Given the description of an element on the screen output the (x, y) to click on. 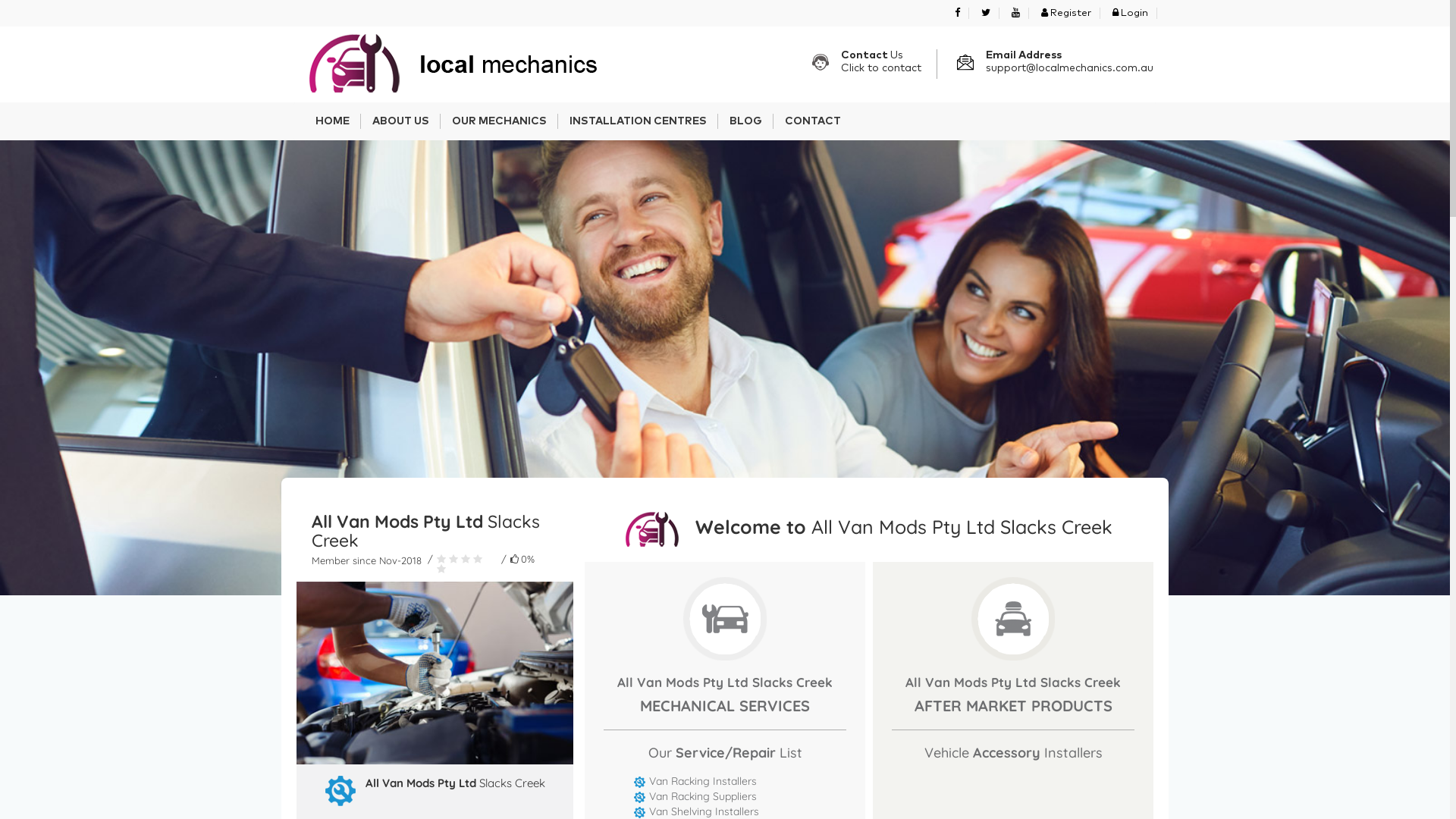
CONTACT Element type: text (812, 121)
INSTALLATION CENTRES Element type: text (638, 121)
BLOG Element type: text (745, 121)
Click to contact Element type: text (880, 68)
OUR MECHANICS Element type: text (499, 121)
Login Element type: text (1130, 13)
Register Element type: text (1066, 13)
HOME Element type: text (332, 121)
support@localmechanics.com.au Element type: text (1069, 68)
Logo Element type: hover (447, 63)
ABOUT US Element type: text (400, 121)
